Given the description of an element on the screen output the (x, y) to click on. 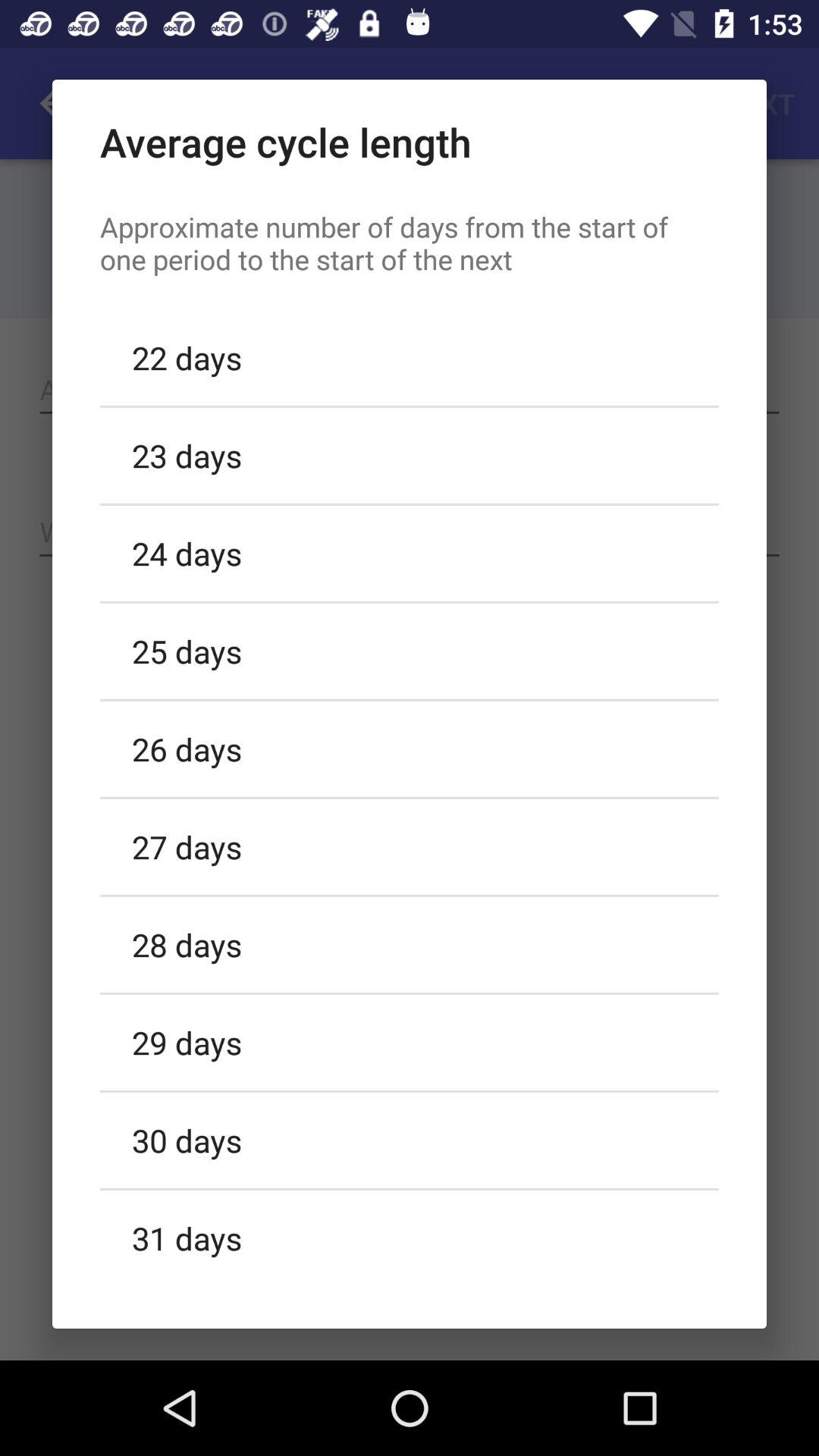
choose the item below the 24 days item (409, 650)
